Given the description of an element on the screen output the (x, y) to click on. 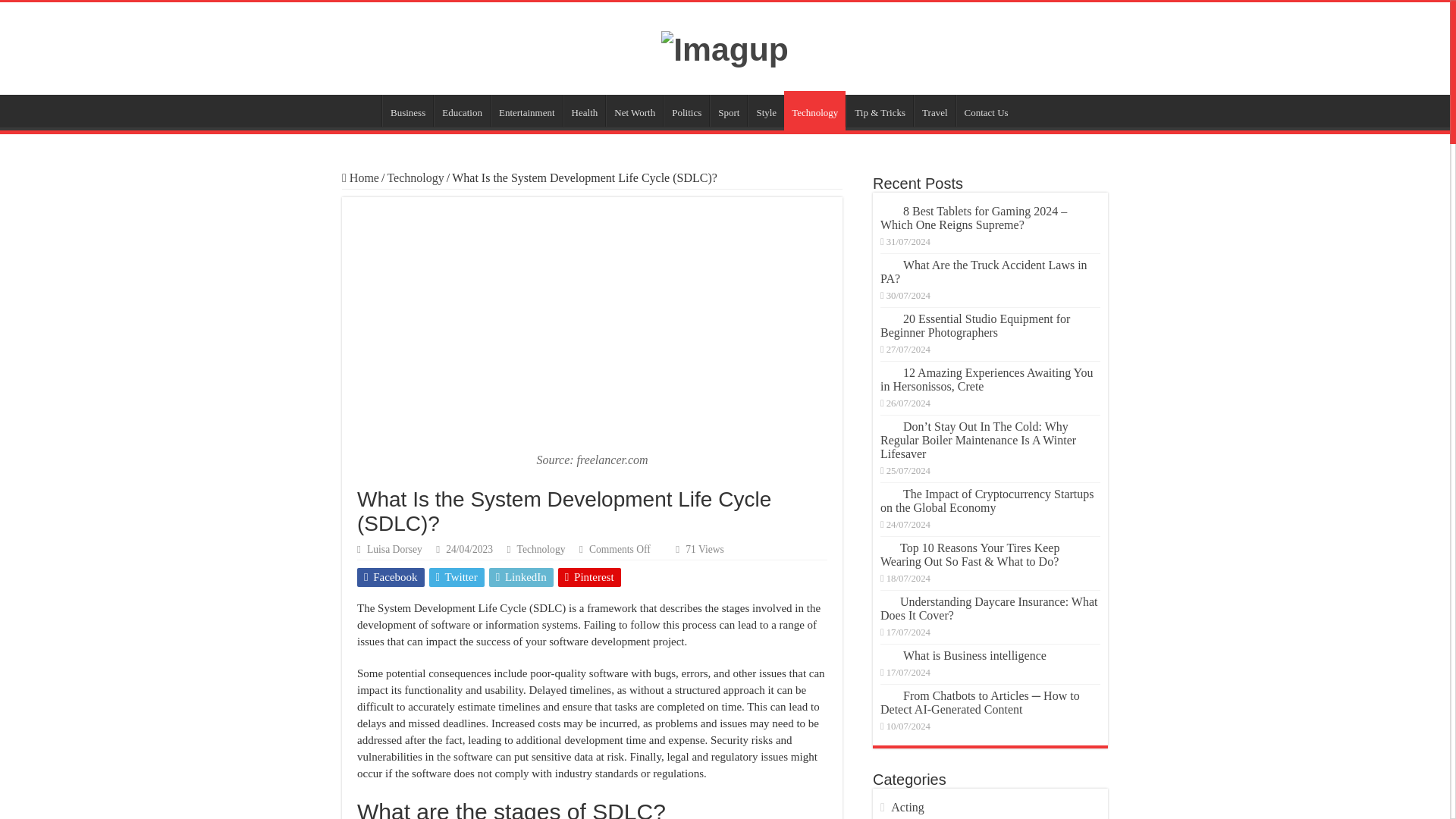
Sport (728, 146)
Education (461, 146)
Facebook (390, 613)
Twitter (456, 613)
Net Worth (633, 146)
Technology (814, 147)
Business (406, 146)
Politics (686, 146)
Contact Us (986, 146)
Technology (541, 585)
Home (360, 214)
Travel (934, 146)
LinkedIn (521, 613)
Entertainment (526, 146)
Luisa Dorsey (394, 585)
